Given the description of an element on the screen output the (x, y) to click on. 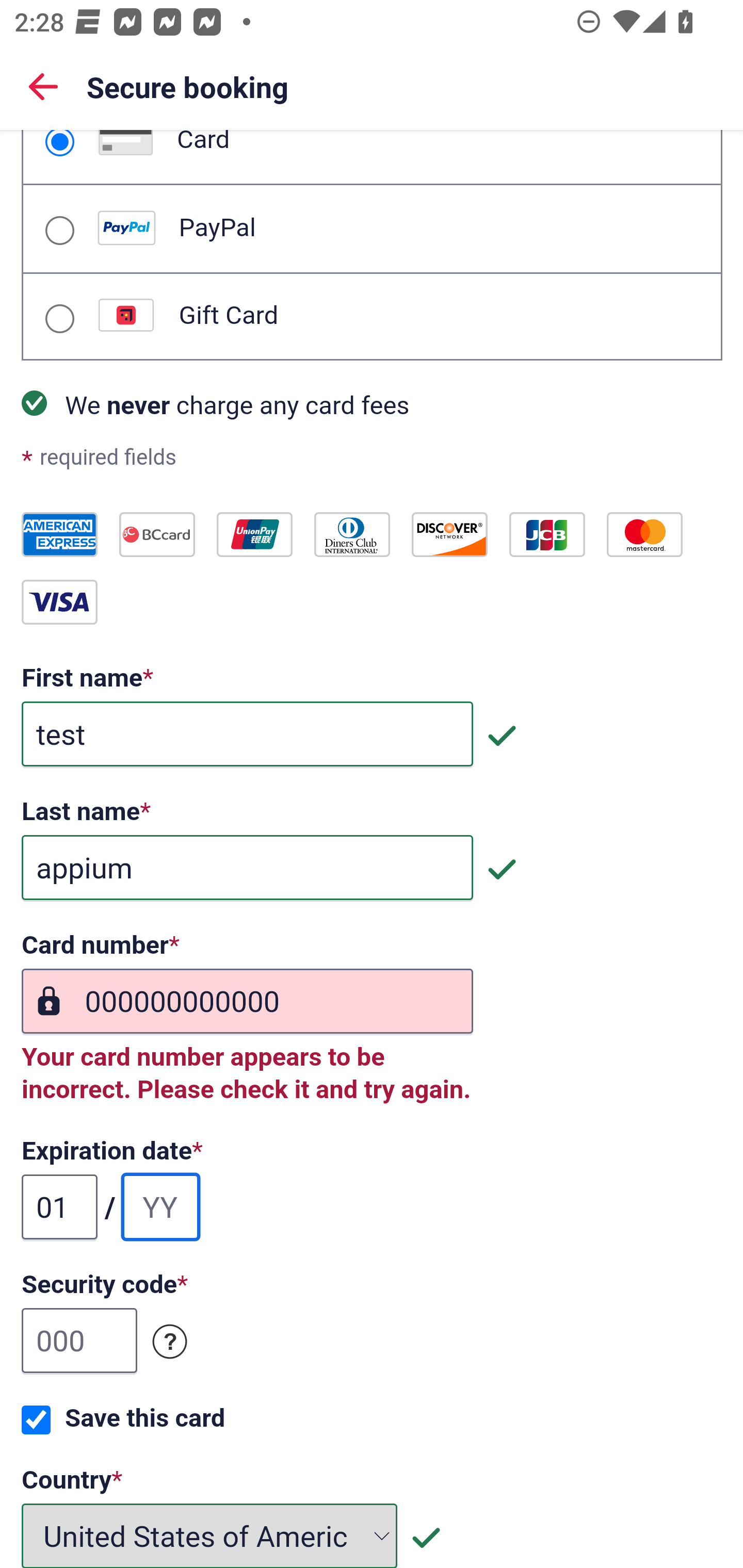
Back (43, 86)
Card (59, 143)
PayPal (59, 230)
Gift Card (59, 318)
test (247, 734)
appium (247, 868)
000000000000 (247, 1001)
01 (59, 1206)
Security code (170, 1342)
Save this card (36, 1420)
United States of America (209, 1535)
